Given the description of an element on the screen output the (x, y) to click on. 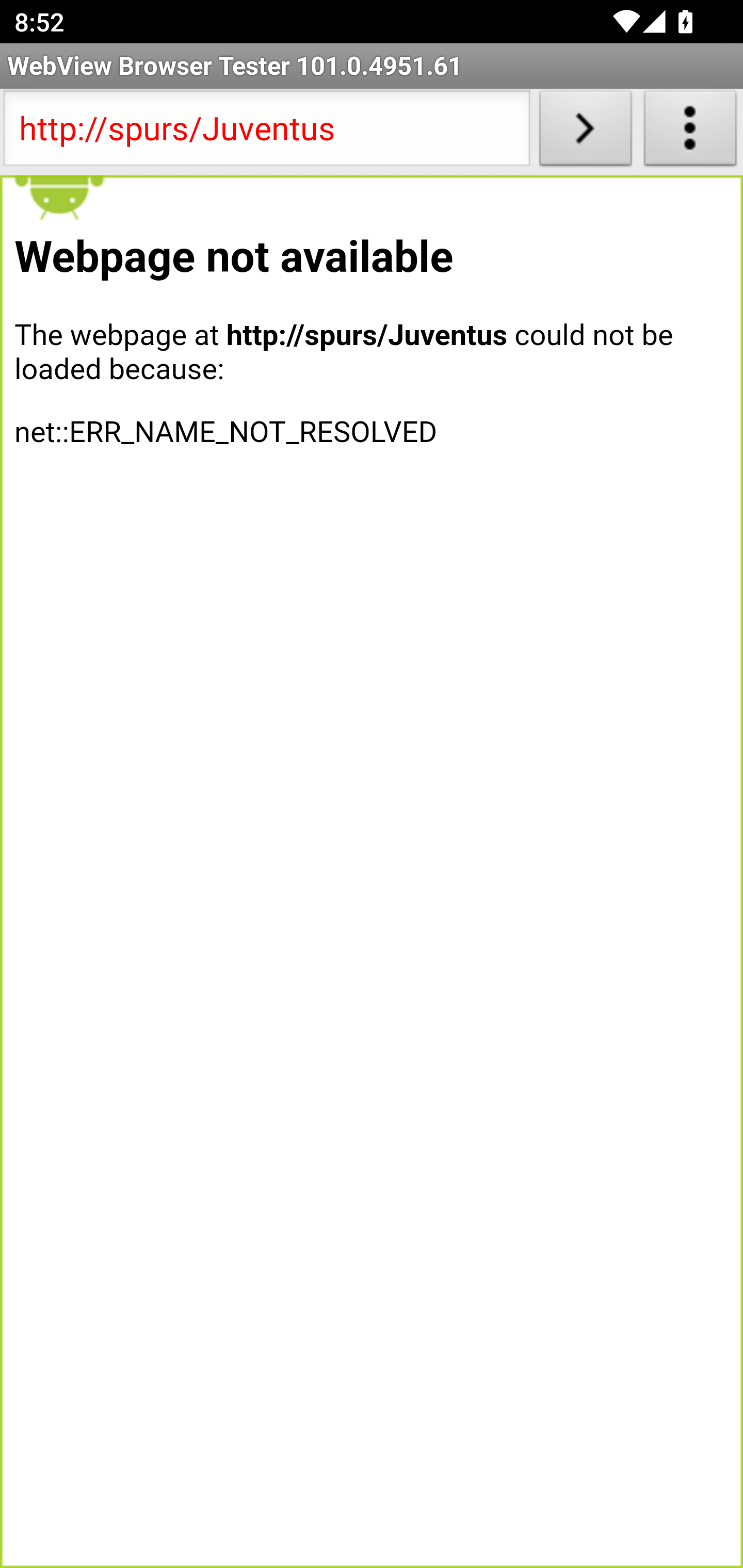
http://spurs/Juventus (266, 132)
Load URL (585, 132)
About WebView (690, 132)
